Given the description of an element on the screen output the (x, y) to click on. 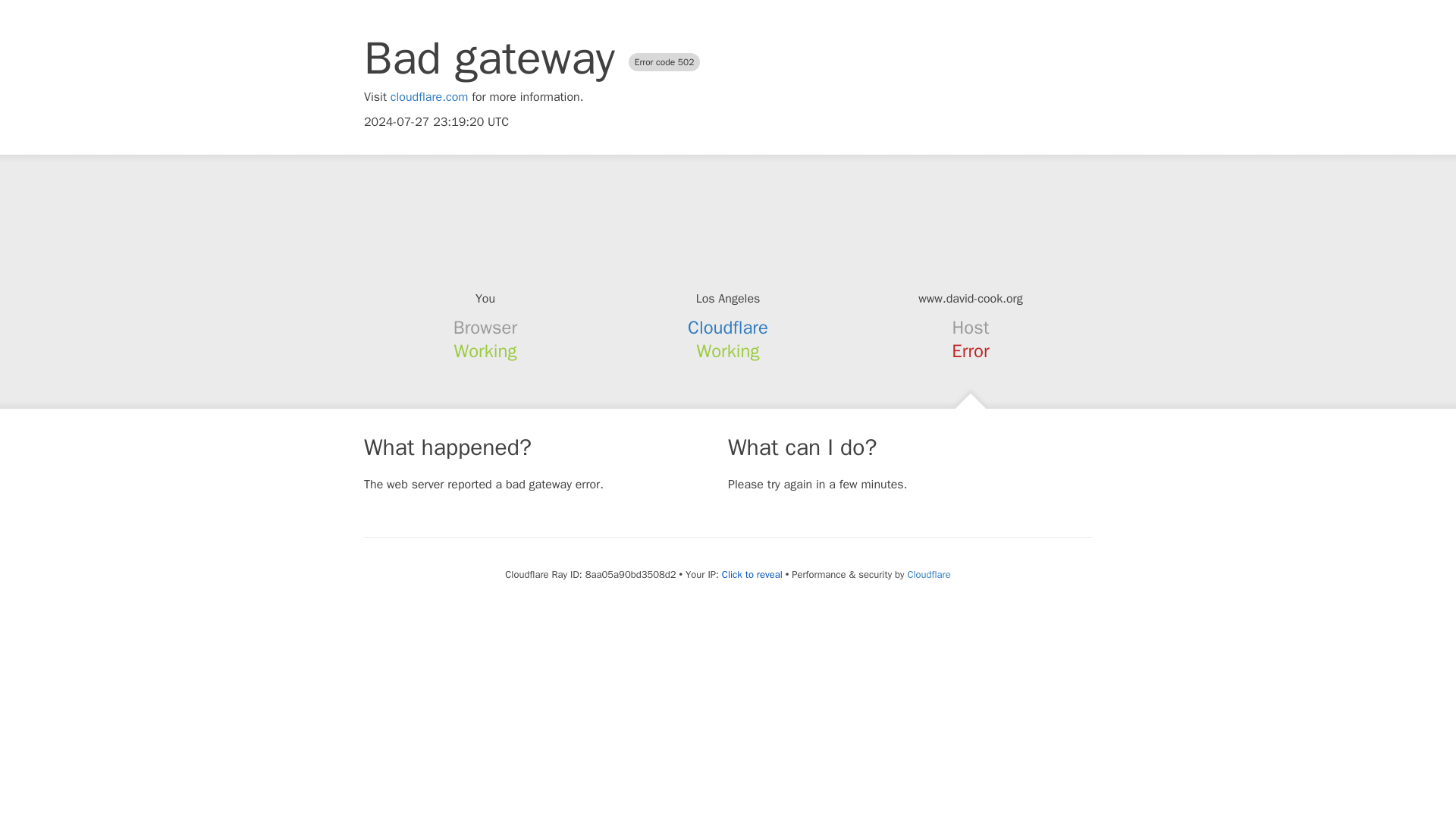
Cloudflare (928, 574)
Click to reveal (752, 574)
Cloudflare (727, 327)
cloudflare.com (429, 96)
